Given the description of an element on the screen output the (x, y) to click on. 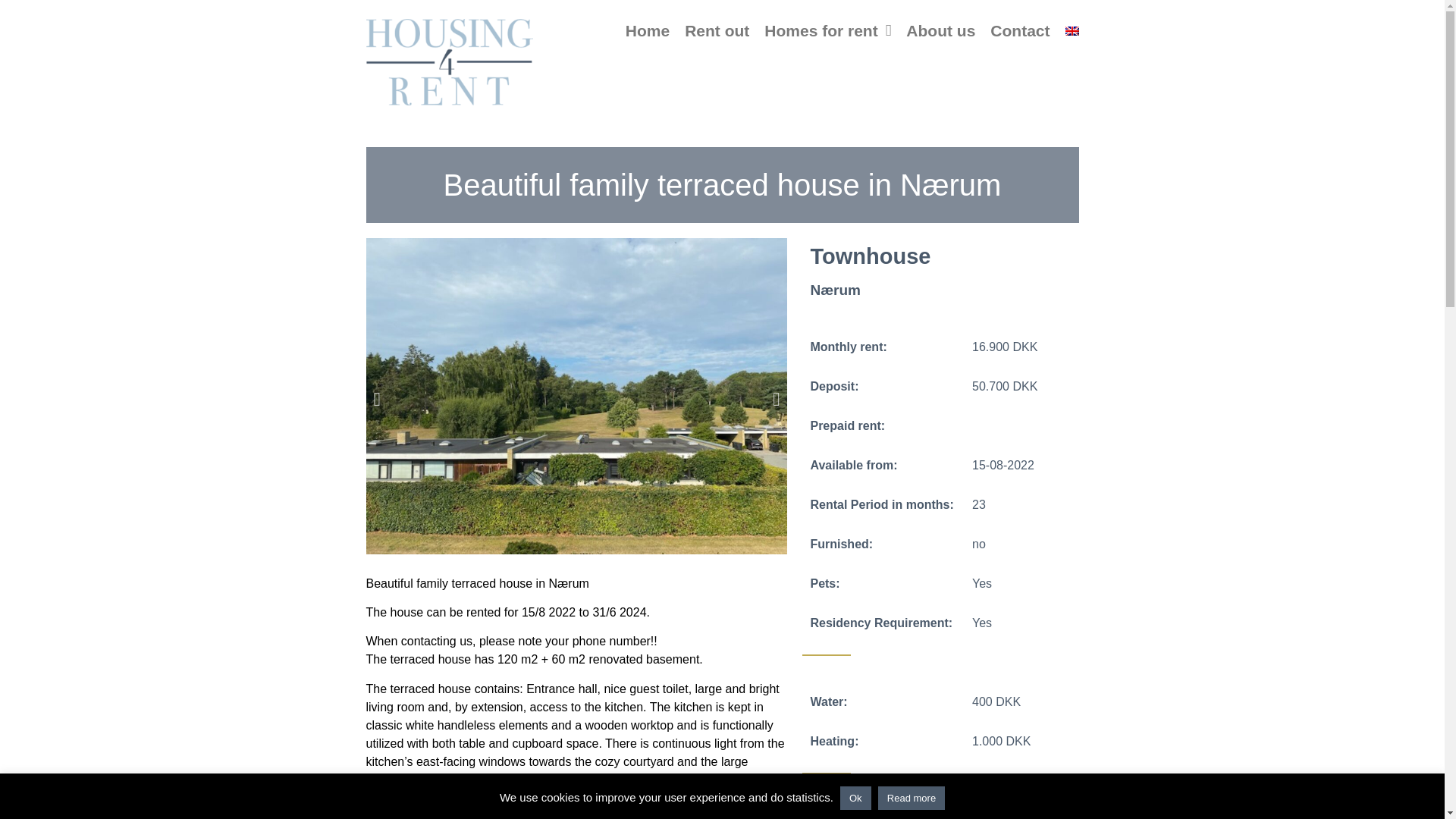
Rent out (716, 30)
Homes for rent (827, 30)
About us (940, 30)
Contact (1019, 30)
Home (647, 30)
